Given the description of an element on the screen output the (x, y) to click on. 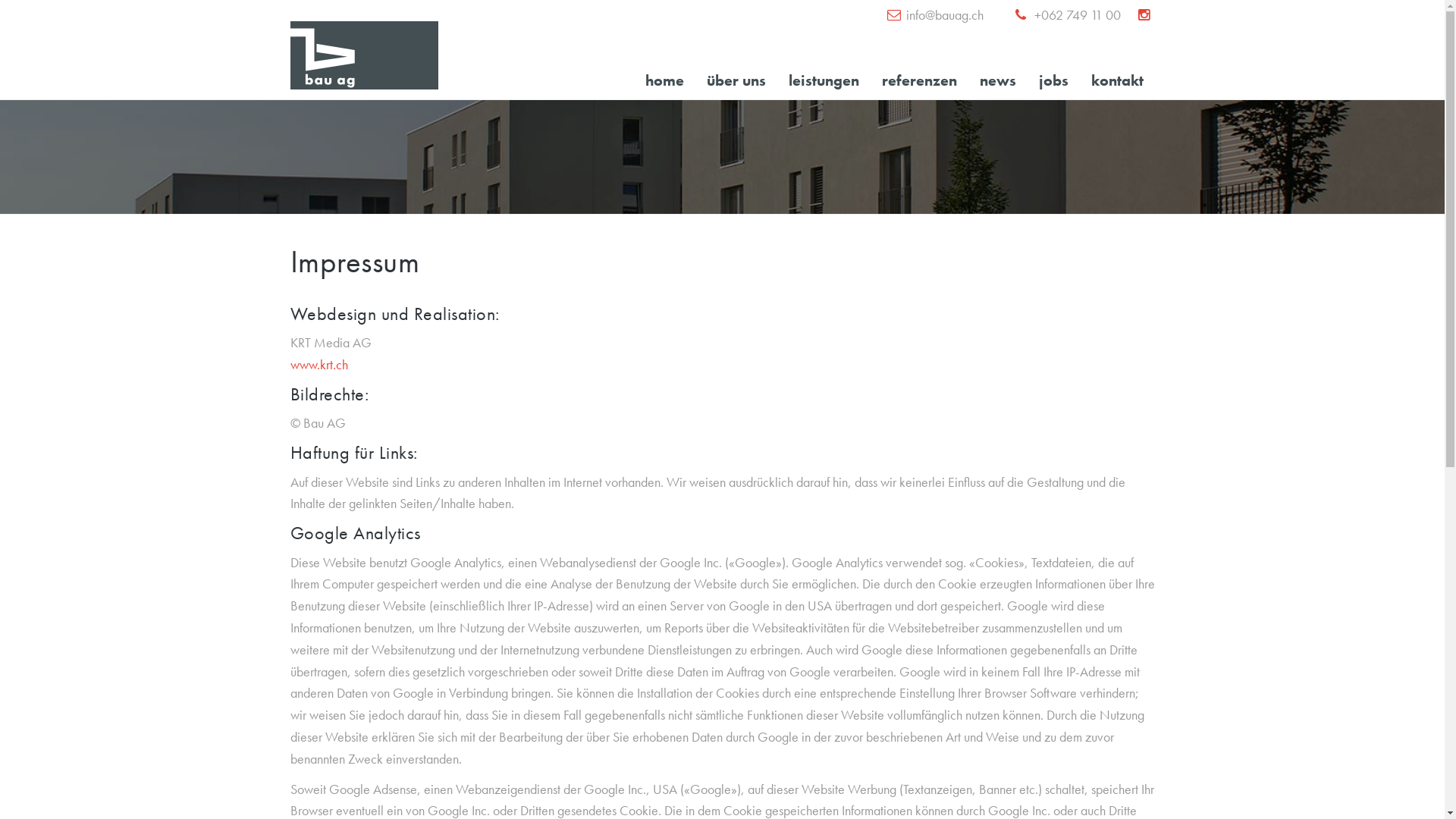
home Element type: text (664, 80)
www.krt.ch Element type: text (318, 364)
kontakt Element type: text (1116, 80)
leistungen Element type: text (822, 80)
info@bauag.ch Element type: text (943, 14)
jobs Element type: text (1052, 80)
news Element type: text (996, 80)
referenzen Element type: text (919, 80)
Bau AG Element type: hover (363, 55)
